Given the description of an element on the screen output the (x, y) to click on. 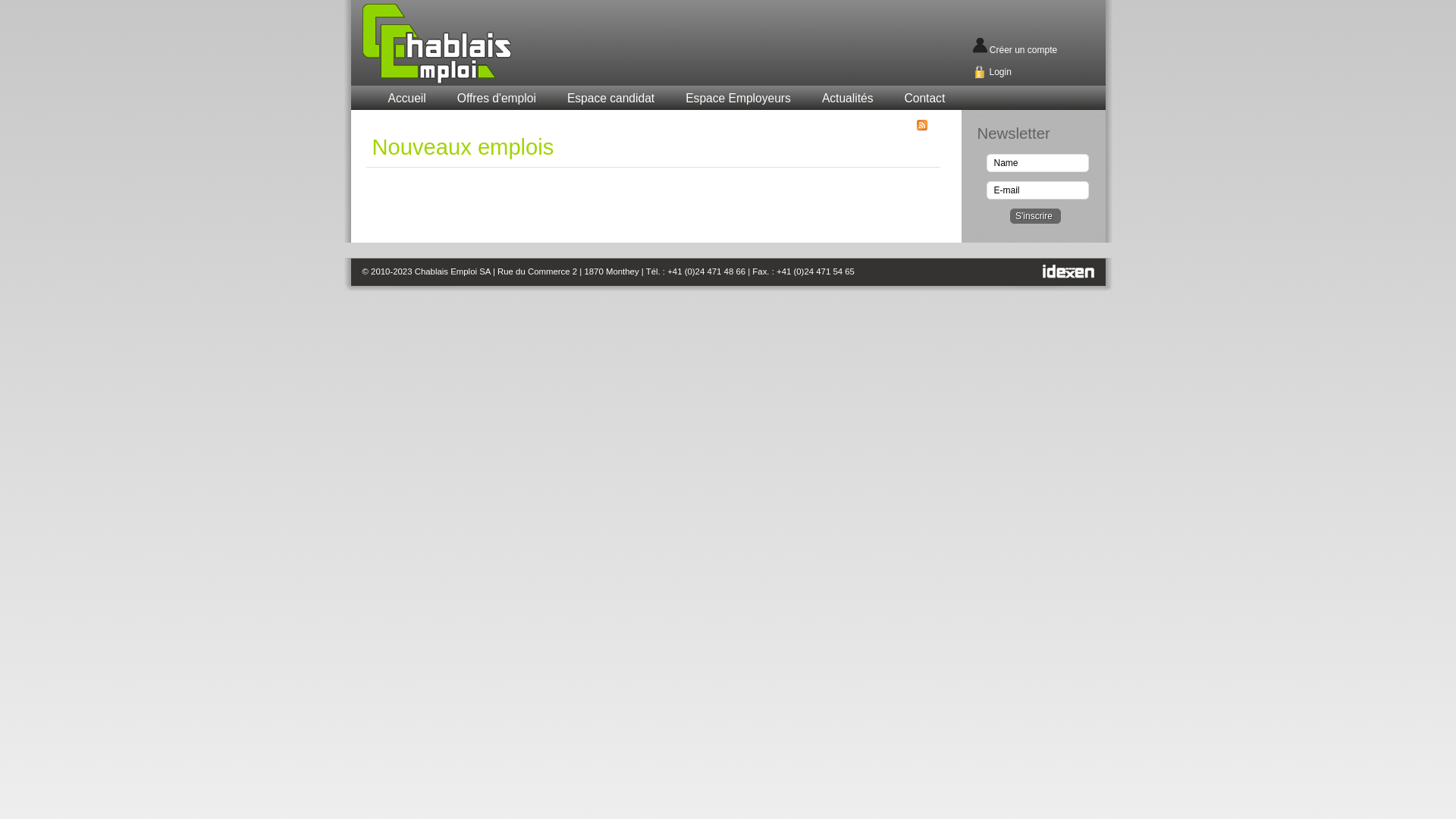
Nouveaux emplois Element type: text (462, 146)
S'inscrire Element type: text (1035, 215)
Offres d'emploi Element type: text (496, 98)
Login Element type: text (999, 71)
Accueil Element type: text (406, 98)
Subscribe to this RSS feed Element type: hover (922, 125)
Chablais Emploi SA - Votre partenaire fixe et temporaire Element type: hover (473, 43)
Espace Employeurs Element type: text (738, 98)
Contact Element type: text (924, 98)
Espace candidat Element type: text (610, 98)
